Given the description of an element on the screen output the (x, y) to click on. 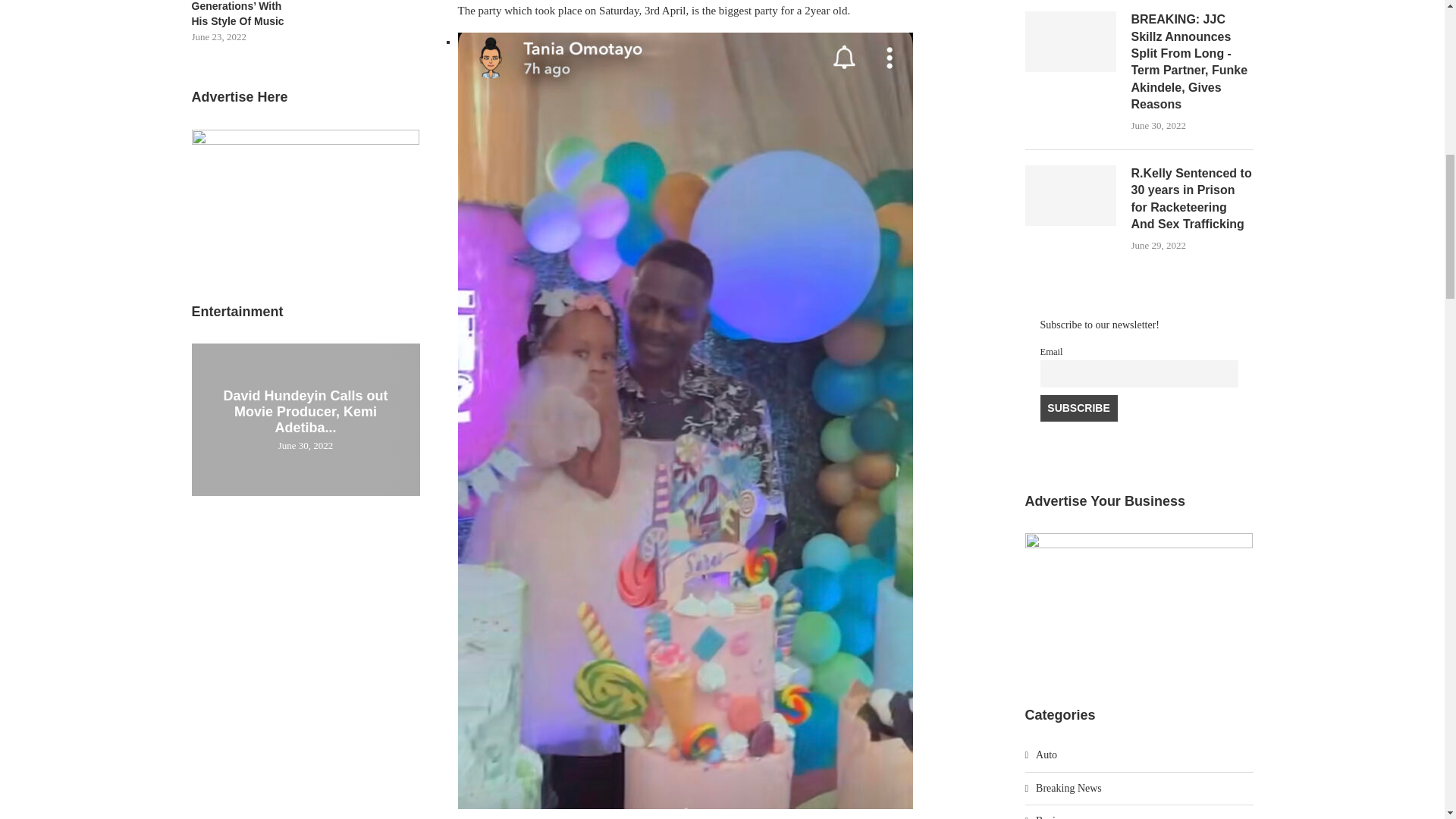
Subscribe (1079, 407)
